Given the description of an element on the screen output the (x, y) to click on. 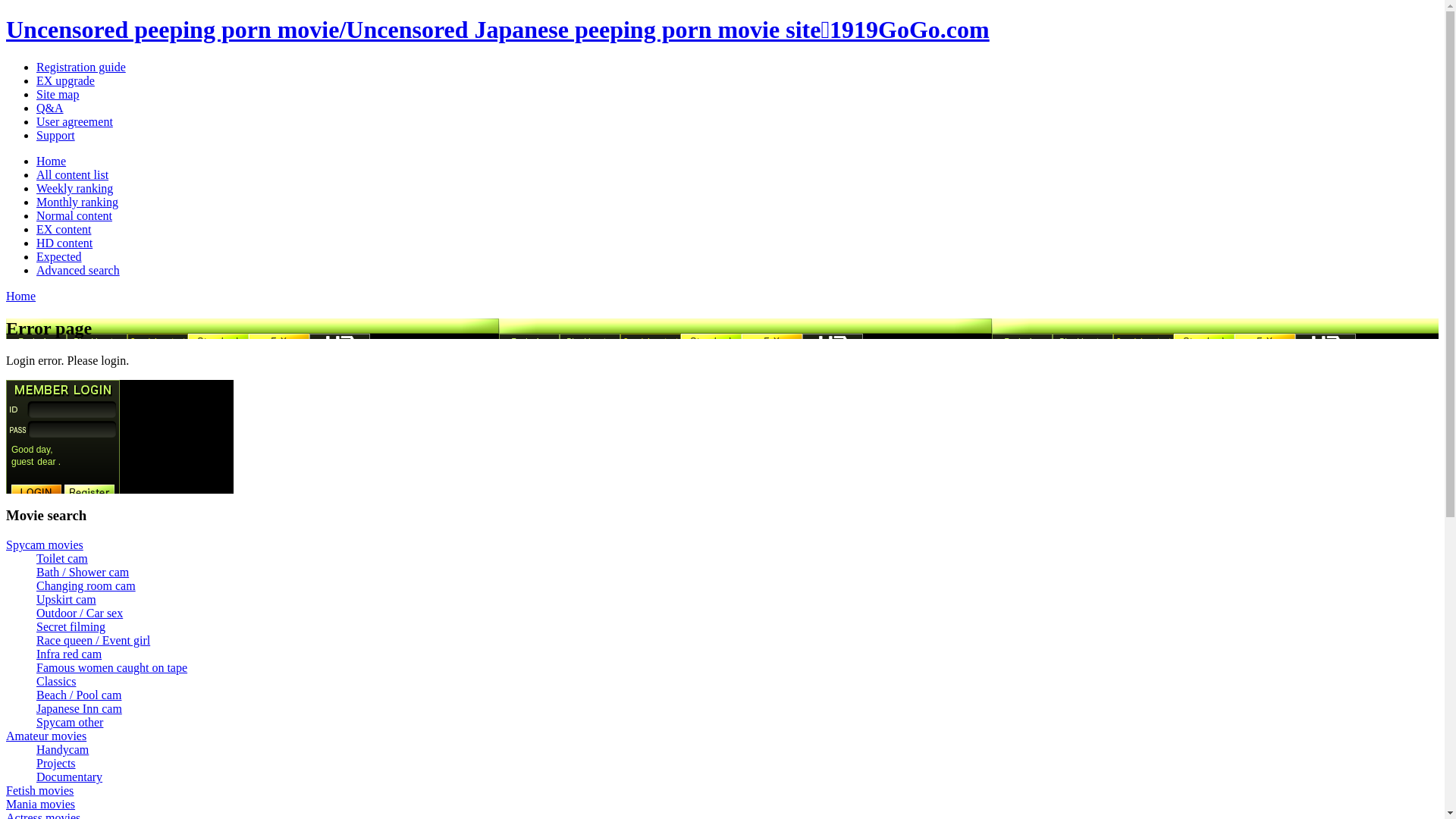
Spycam movies Element type: text (44, 544)
EX upgrade Element type: text (65, 80)
Race queen / Event girl Element type: text (93, 639)
User agreement Element type: text (74, 121)
EX content Element type: text (63, 228)
Normal content Element type: text (74, 215)
Fetish movies Element type: text (39, 790)
Classics Element type: text (55, 680)
Expected Element type: text (58, 256)
Home Element type: text (20, 295)
Upskirt cam Element type: text (66, 599)
Beach / Pool cam Element type: text (78, 694)
Site map Element type: text (57, 93)
Monthly ranking Element type: text (77, 201)
Advanced search Element type: text (77, 269)
Home Element type: text (50, 160)
Documentary Element type: text (69, 776)
HD content Element type: text (64, 242)
Changing room cam Element type: text (85, 585)
Amateur movies Element type: text (46, 735)
Weekly ranking Element type: text (74, 188)
Infra red cam Element type: text (68, 653)
Bath / Shower cam Element type: text (82, 571)
Outdoor / Car sex Element type: text (79, 612)
Mania movies Element type: text (40, 803)
Q&A Element type: text (49, 107)
Secret filming Element type: text (70, 626)
Handycam Element type: text (62, 749)
Toilet cam Element type: text (61, 558)
All content list Element type: text (72, 174)
Projects Element type: text (55, 762)
Japanese Inn cam Element type: text (79, 708)
Support Element type: text (55, 134)
Spycam other Element type: text (69, 721)
Famous women caught on tape Element type: text (111, 667)
Registration guide Element type: text (80, 66)
